Given the description of an element on the screen output the (x, y) to click on. 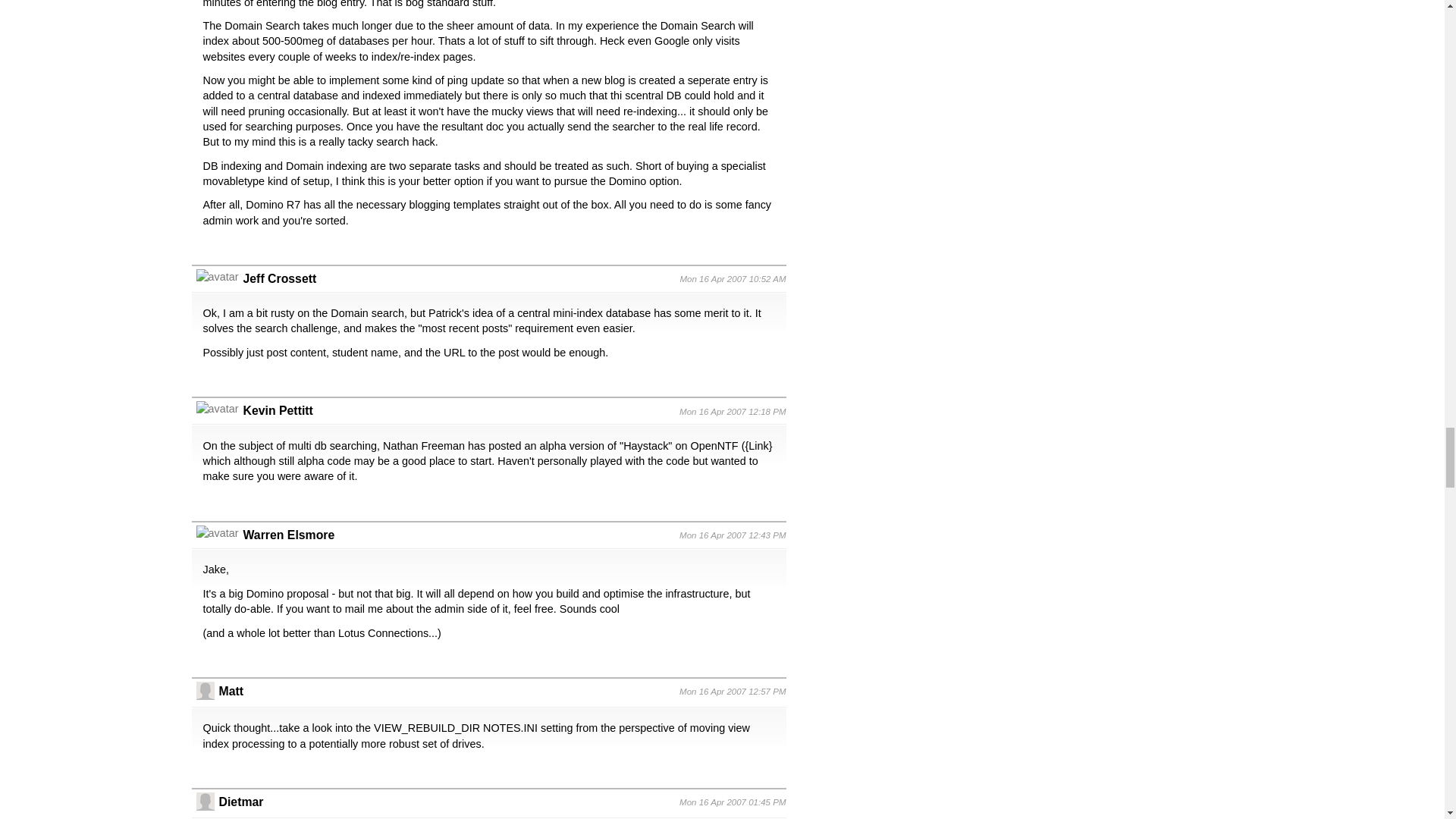
Jeff Crossett (279, 278)
Warren Elsmore (288, 533)
Link (758, 445)
Kevin Pettitt (278, 410)
